Given the description of an element on the screen output the (x, y) to click on. 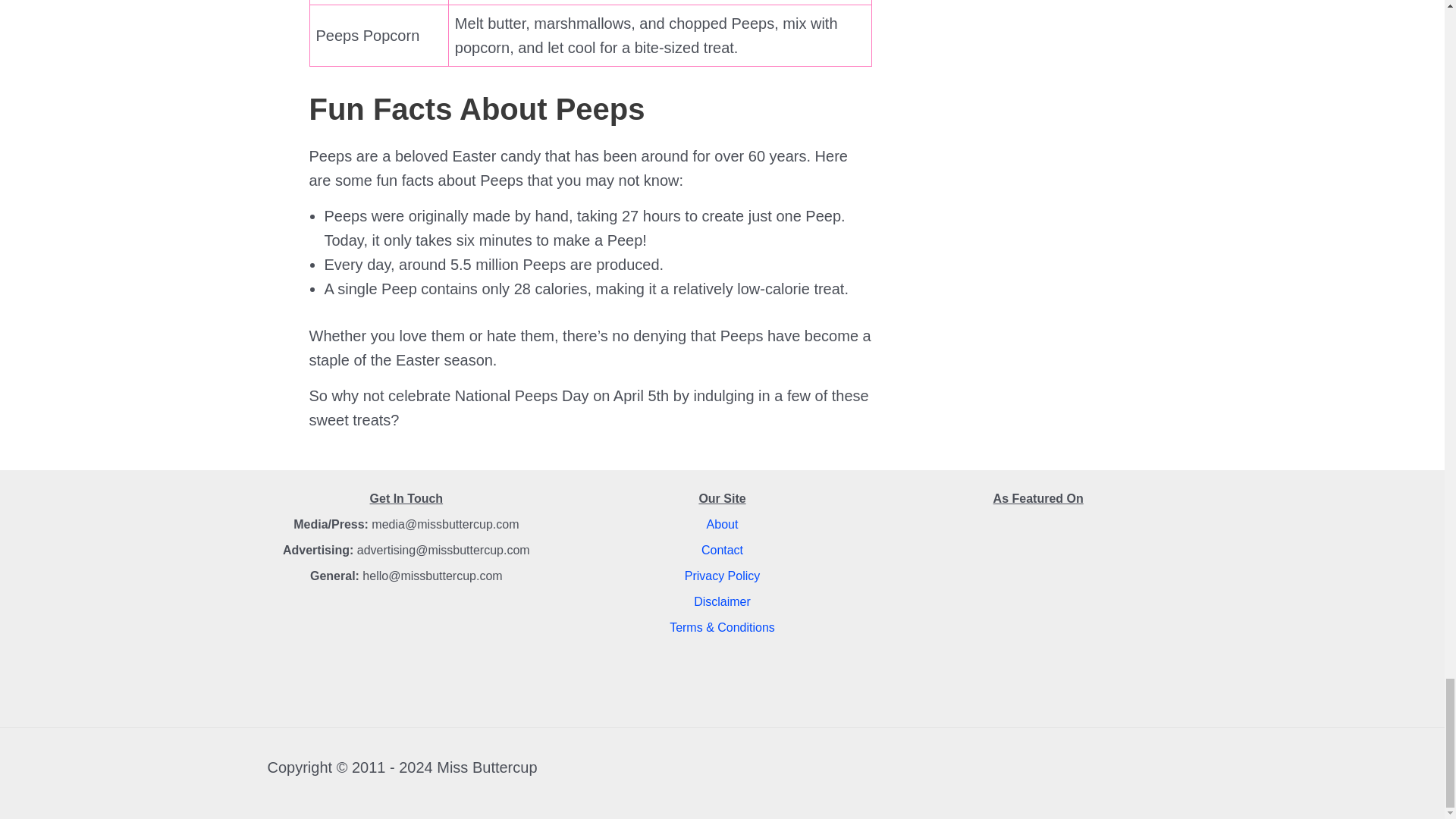
Privacy Policy (722, 575)
Contact (721, 549)
Disclaimer (722, 601)
About (722, 523)
